Given the description of an element on the screen output the (x, y) to click on. 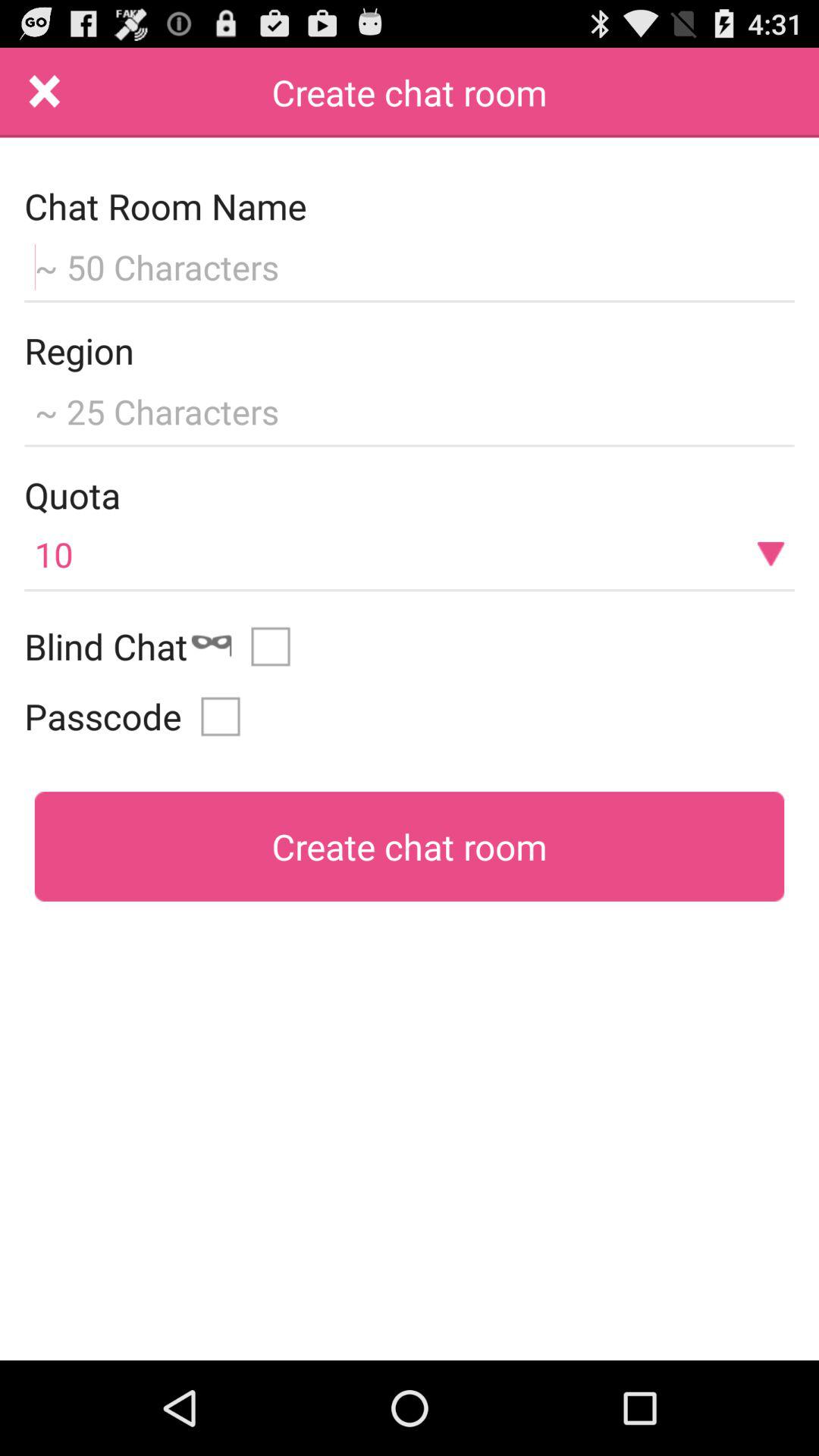
turn on the item above chat room name (44, 92)
